Given the description of an element on the screen output the (x, y) to click on. 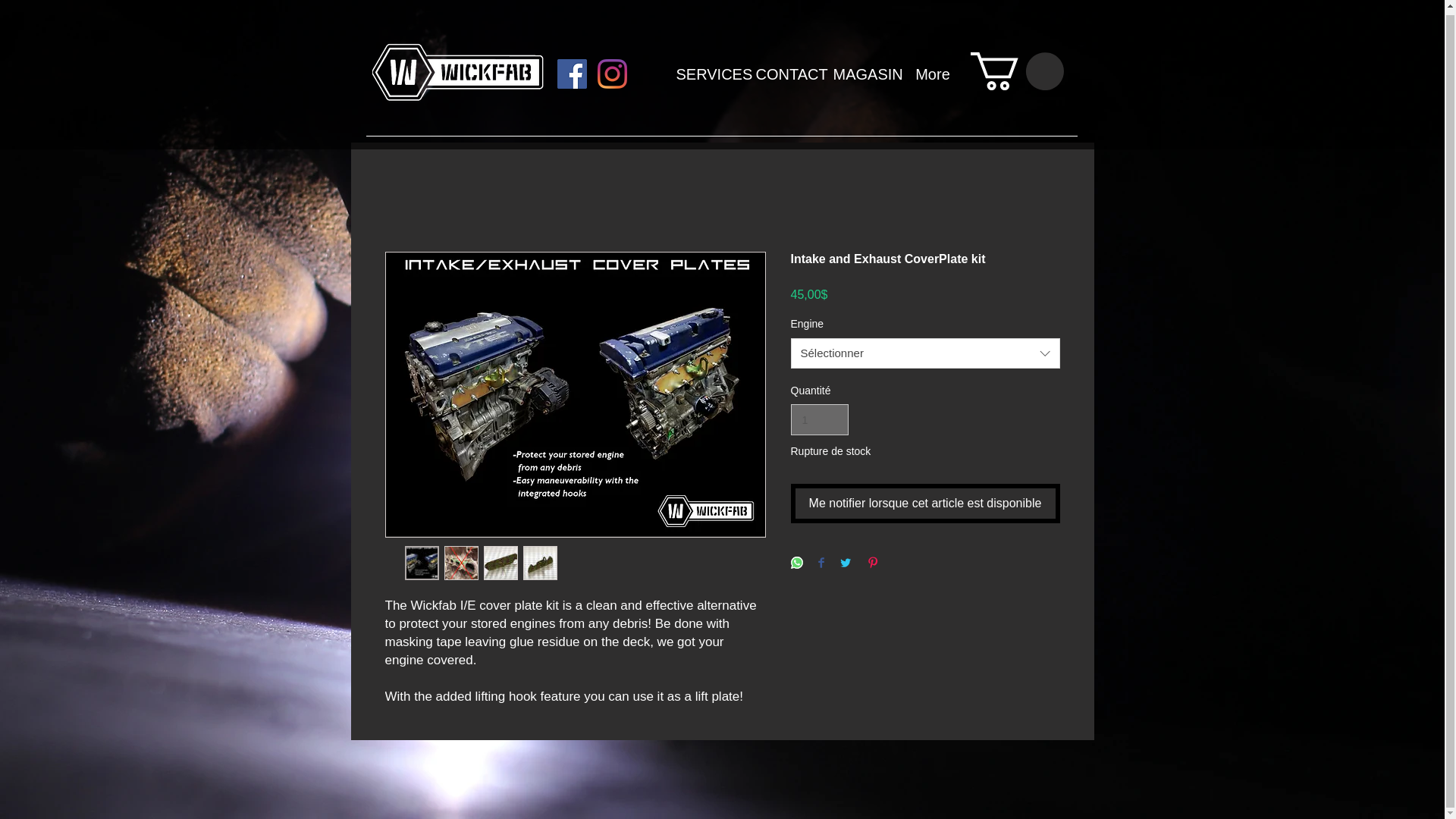
1 (818, 419)
Me notifier lorsque cet article est disponible (924, 503)
CONTACT (783, 70)
MAGASIN (862, 70)
SERVICES (703, 70)
